Given the description of an element on the screen output the (x, y) to click on. 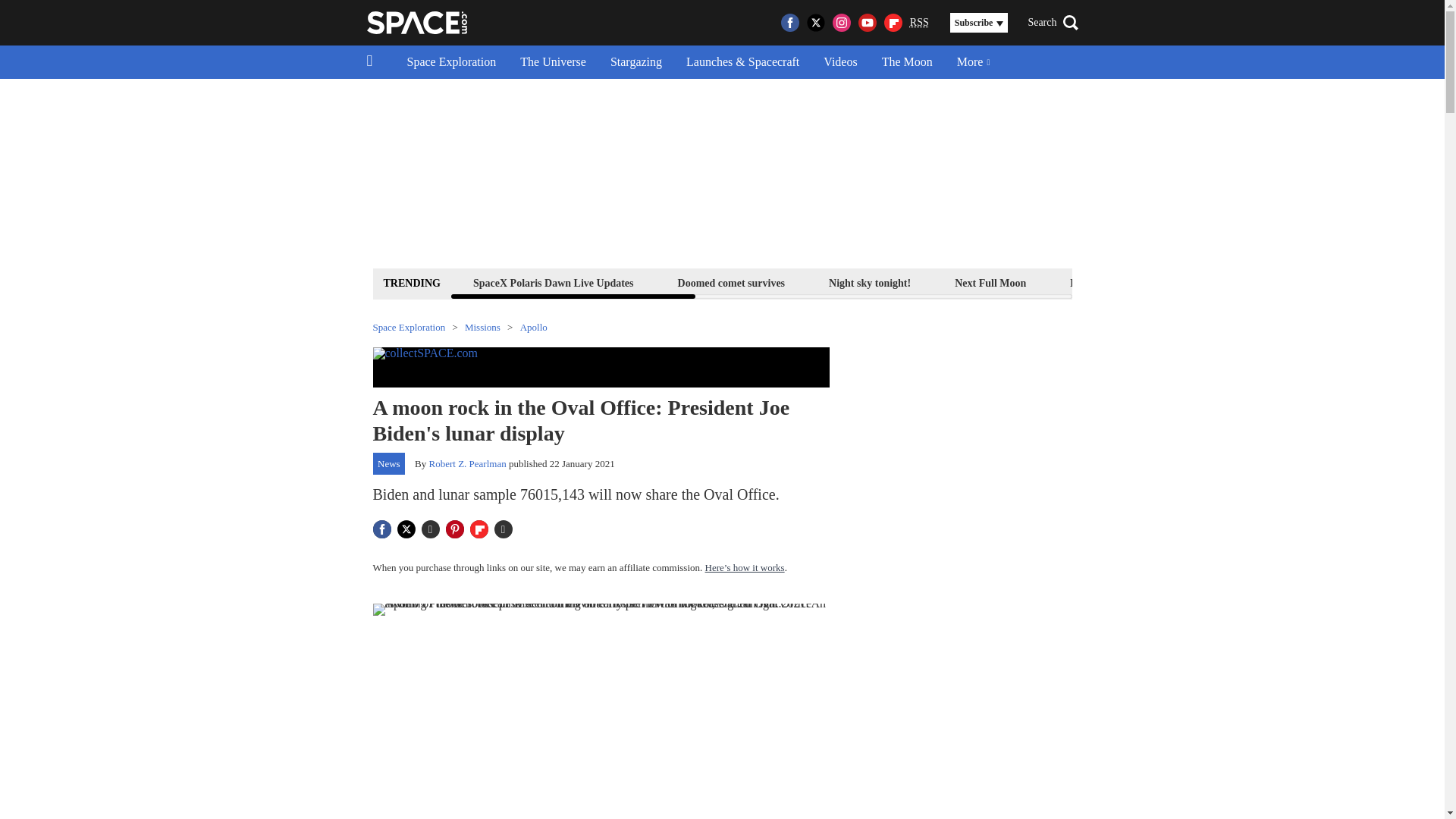
Best Star Projectors (1343, 282)
Videos (839, 61)
Really Simple Syndication (919, 21)
Doomed comet survives (731, 282)
Best Telescopes (1104, 282)
Next Full Moon (989, 282)
Space Exploration (451, 61)
Stargazing (636, 61)
SpaceX Polaris Dawn Live Updates (553, 282)
RSS (919, 22)
